Given the description of an element on the screen output the (x, y) to click on. 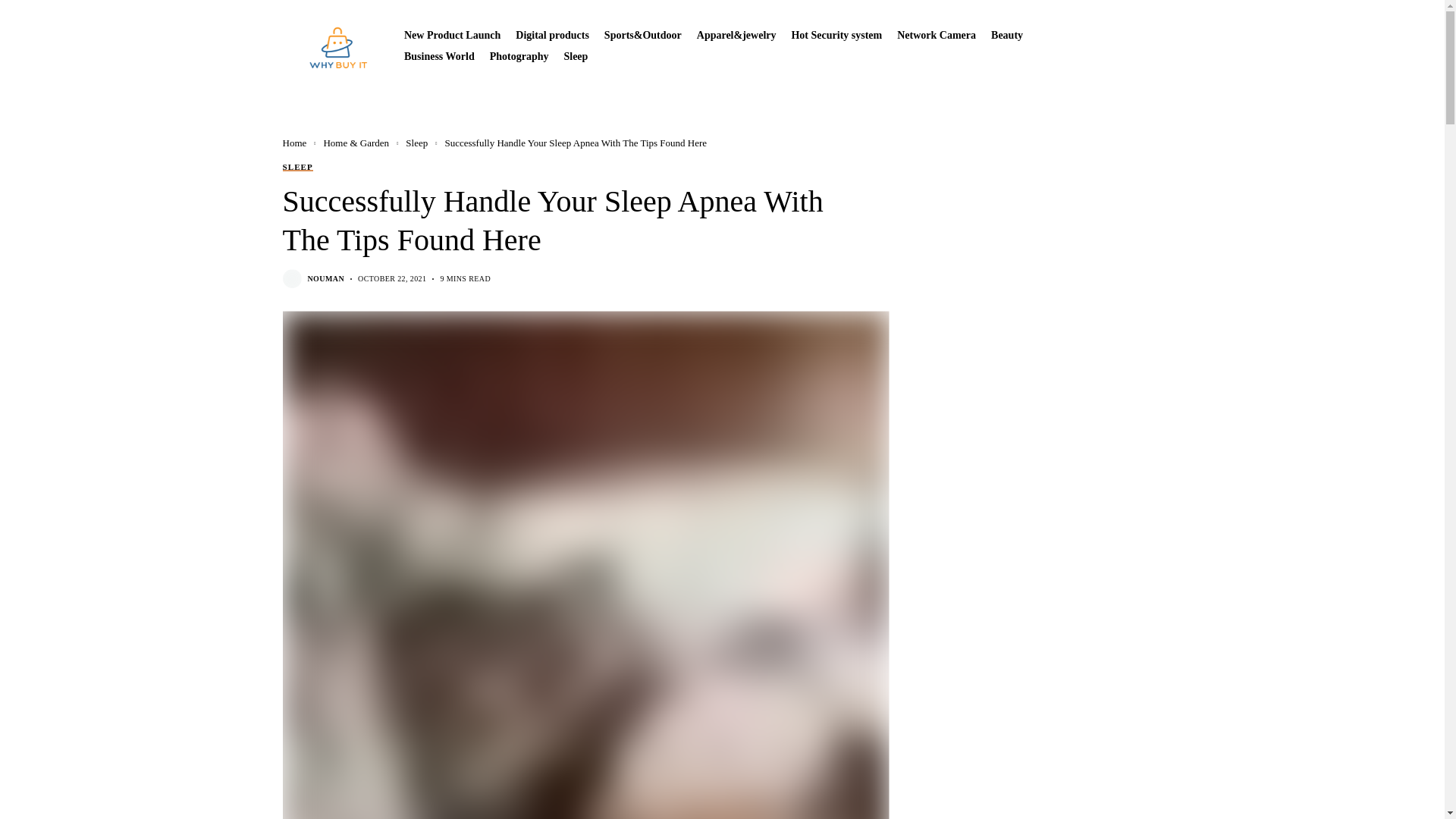
Beauty (1007, 34)
Digital products (552, 34)
Hot Security system (836, 34)
Business World (439, 56)
New Product Launch (452, 34)
Sleep (575, 56)
Posts by Nouman (326, 278)
Photography (518, 56)
Network Camera (935, 34)
